Given the description of an element on the screen output the (x, y) to click on. 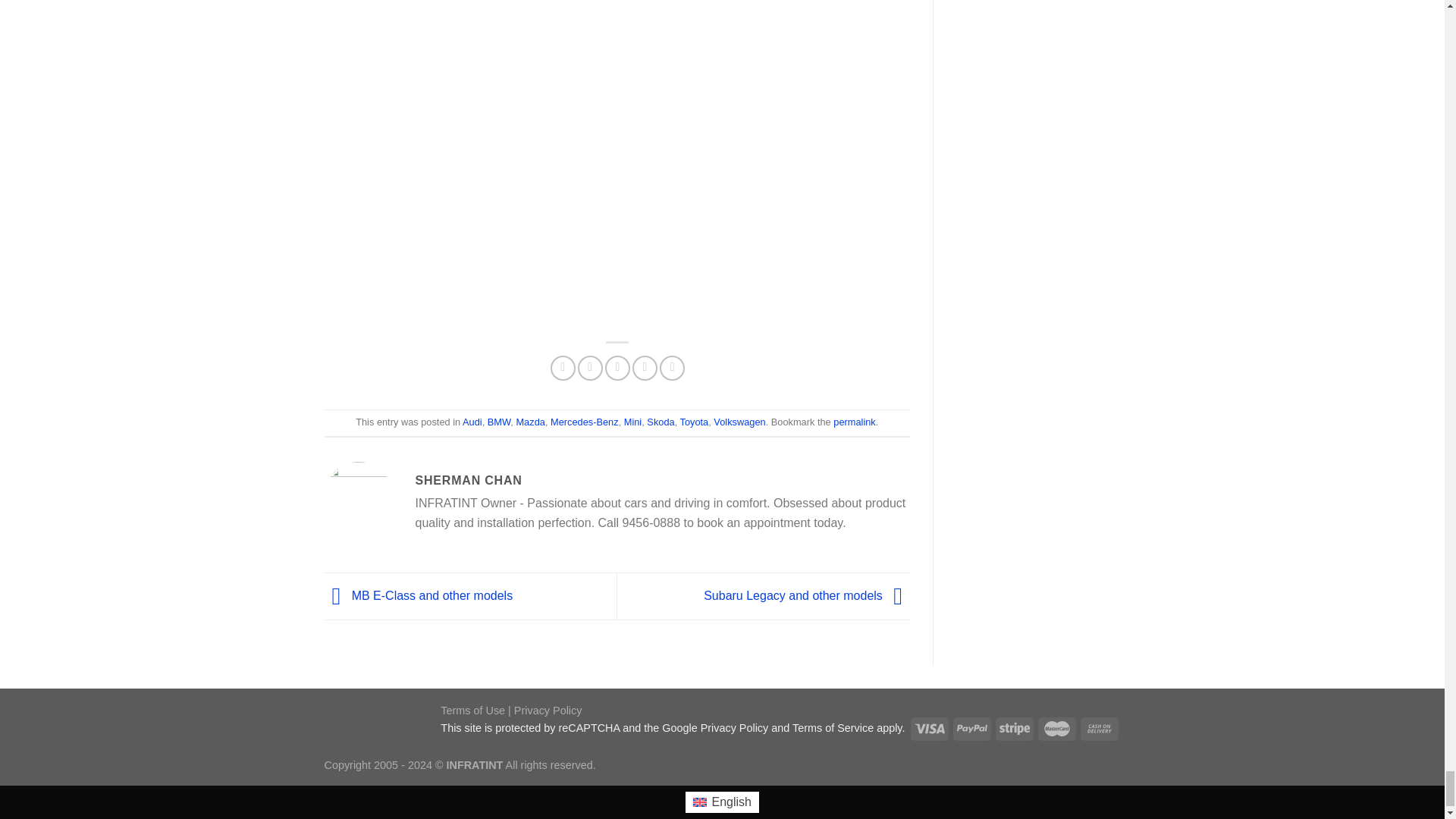
Email to a Friend (617, 367)
Permalink to Audi Q3 and other models (853, 421)
Audi (472, 421)
Share on Facebook (562, 367)
Mazda (529, 421)
Share on Twitter (590, 367)
BMW (499, 421)
Share on LinkedIn (671, 367)
Pin on Pinterest (644, 367)
